Given the description of an element on the screen output the (x, y) to click on. 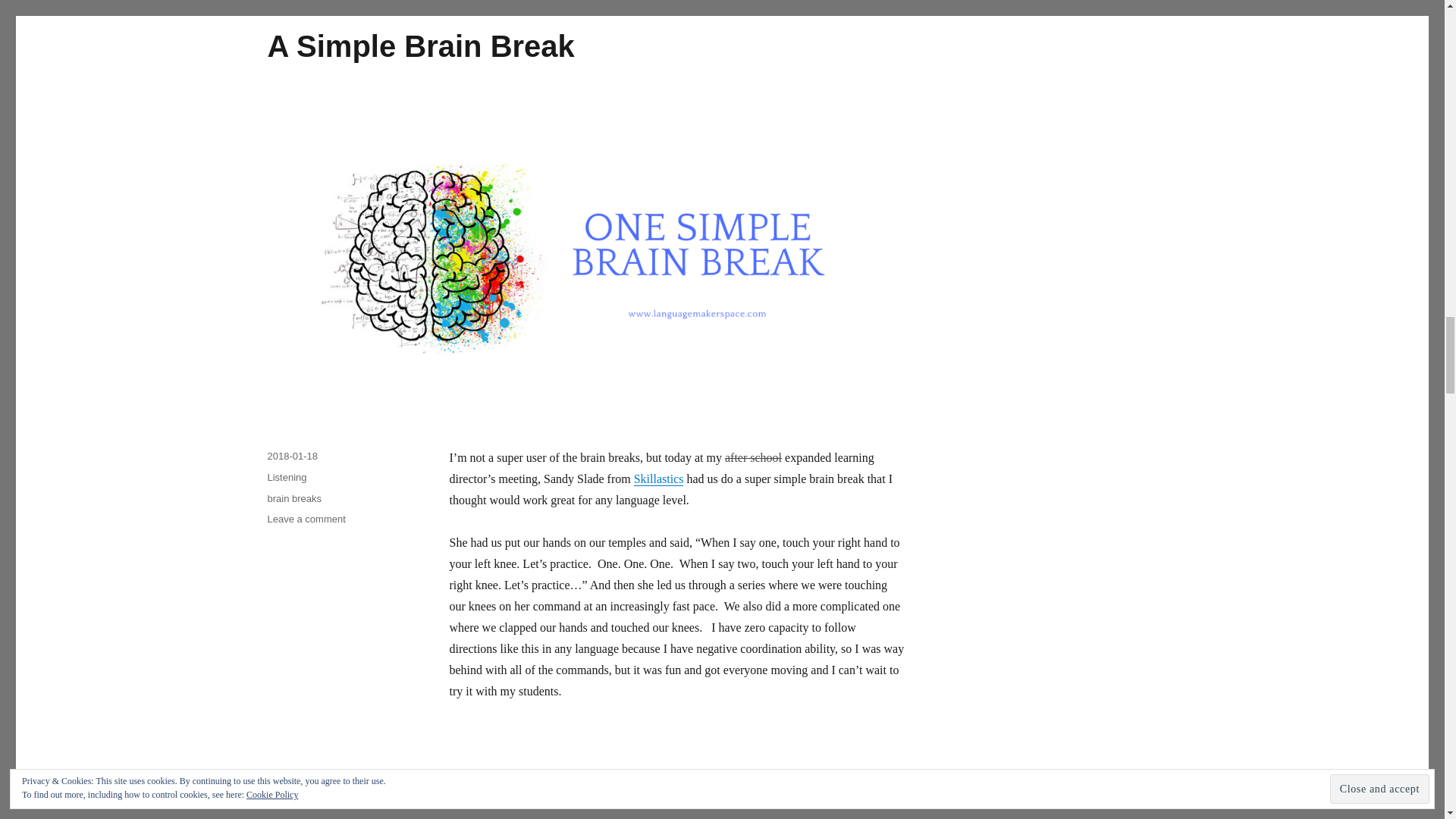
Skillastics (658, 478)
A Simple Brain Break (419, 46)
Listening (285, 477)
brain breaks (293, 498)
2018-01-18 (291, 455)
Tackling Pronunciation with Technology (555, 803)
